Given the description of an element on the screen output the (x, y) to click on. 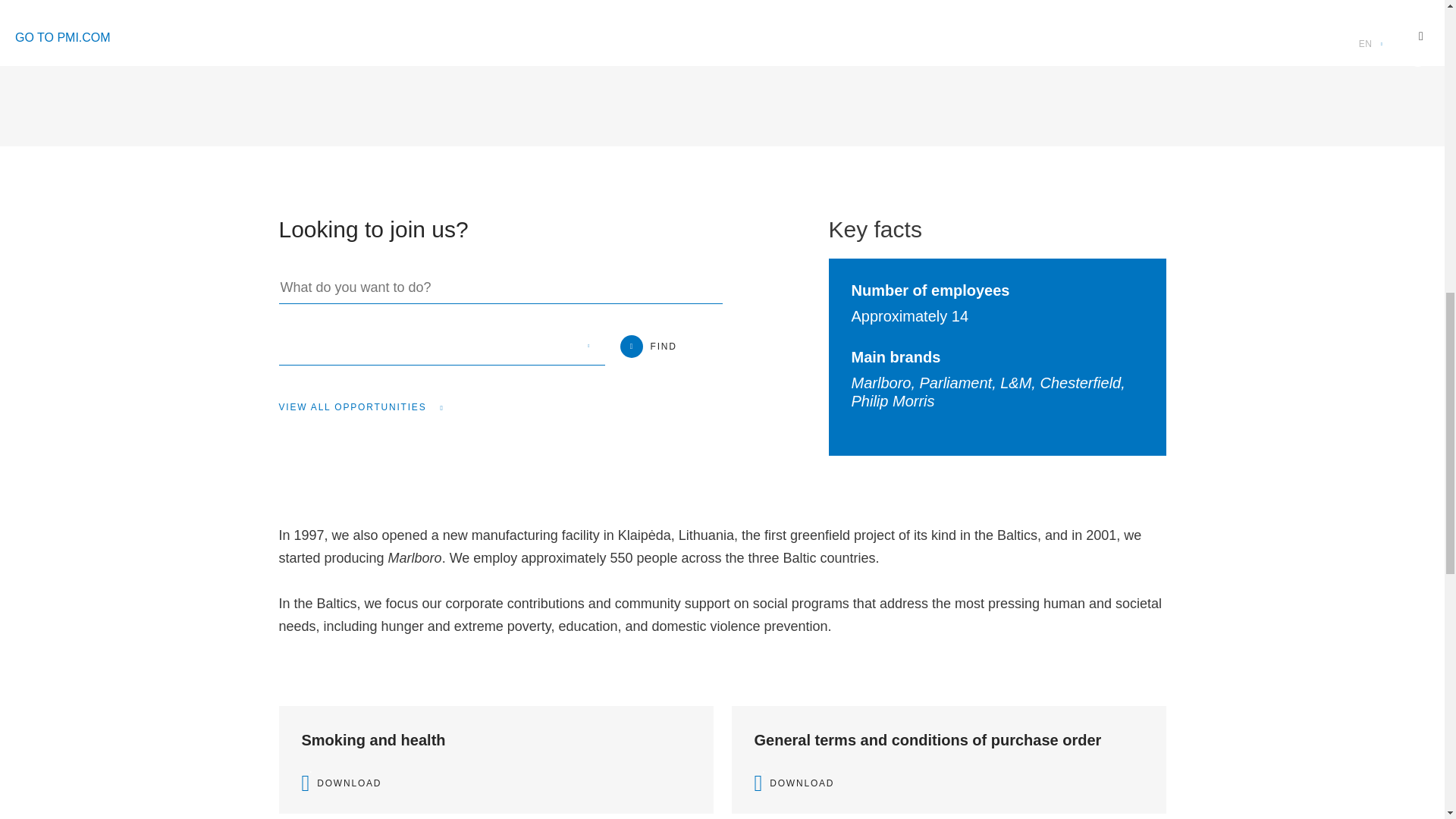
DOWNLOAD (948, 783)
VIEW ALL OPPORTUNITIES (361, 407)
DOWNLOAD (495, 783)
FIND (648, 345)
